Given the description of an element on the screen output the (x, y) to click on. 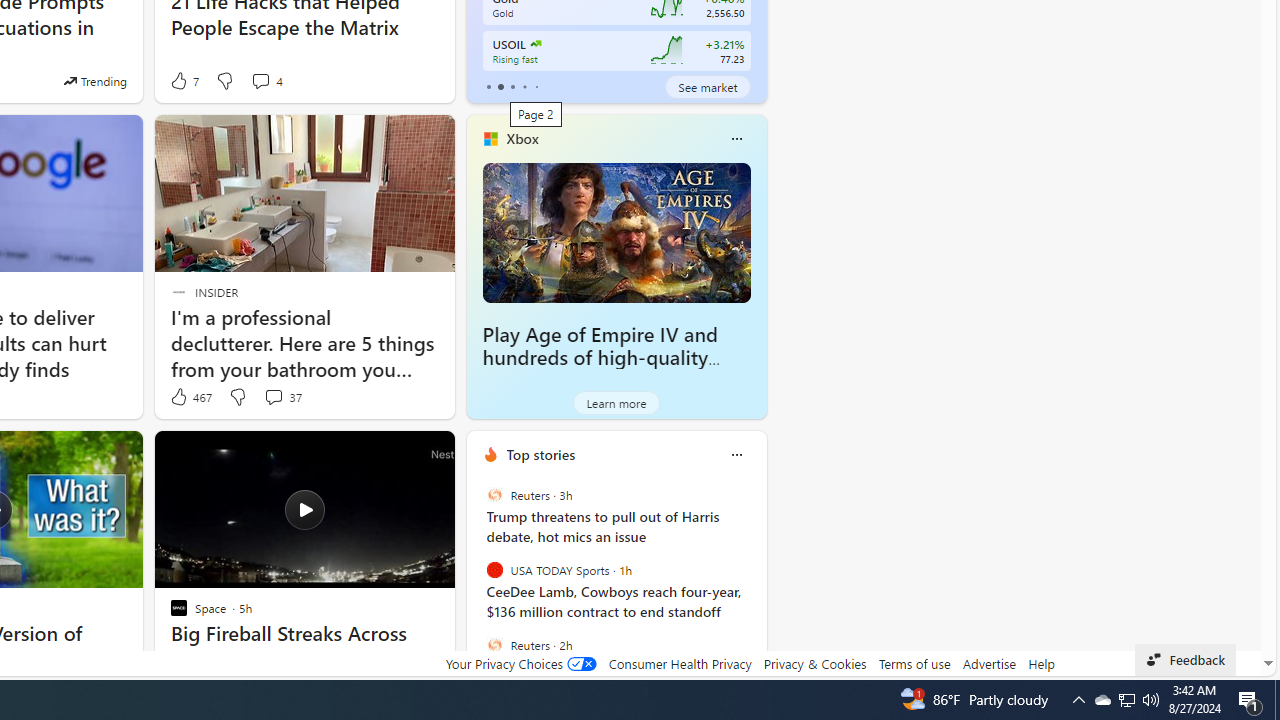
tab-2 (511, 86)
USA TODAY Sports (494, 570)
View comments 4 Comment (265, 80)
Hide this story (393, 454)
View comments 4 Comment (260, 80)
See market (708, 86)
7 Like (183, 80)
